Given the description of an element on the screen output the (x, y) to click on. 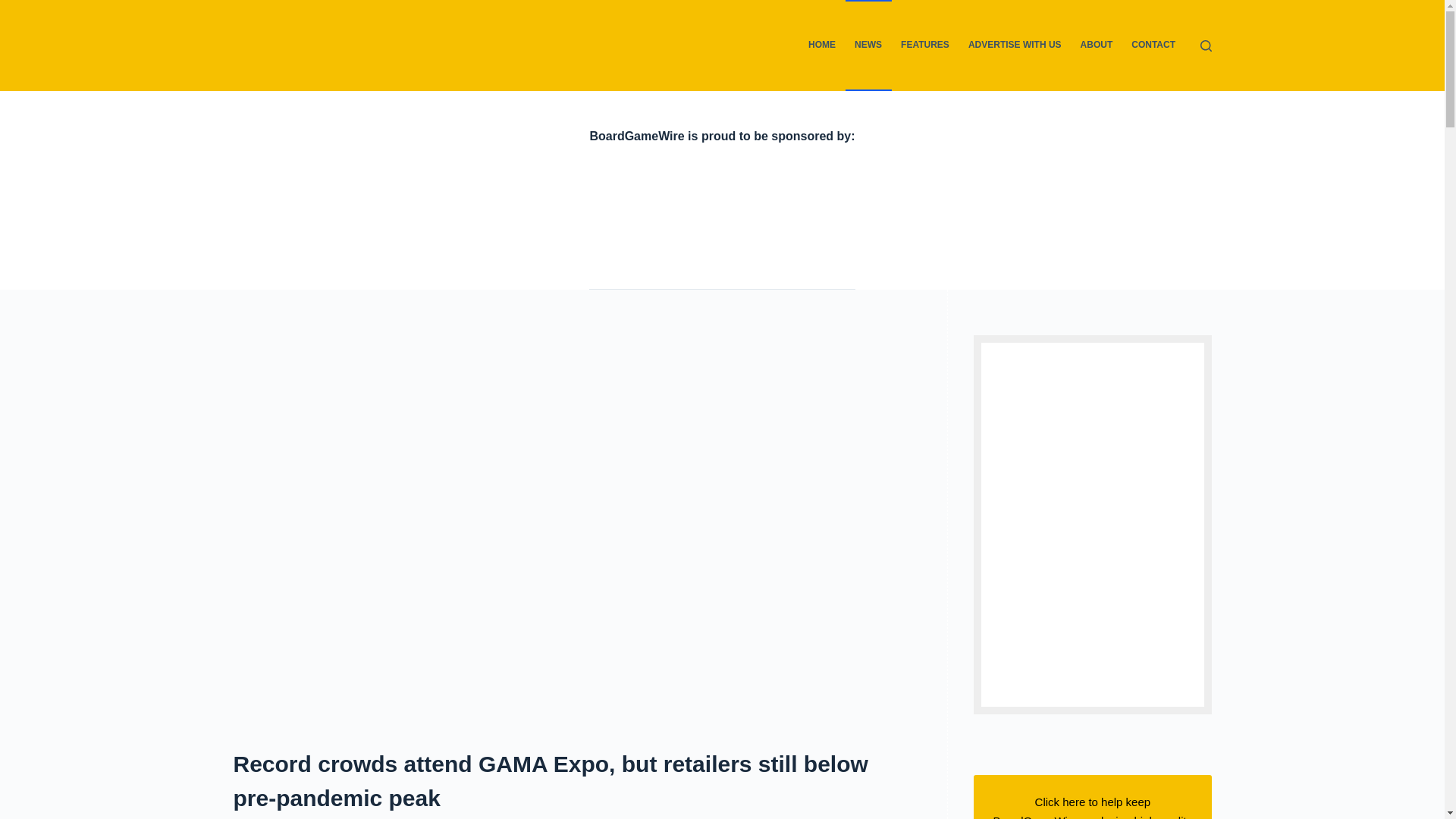
ADVERTISE WITH US (1014, 45)
Skip to content (15, 7)
